Given the description of an element on the screen output the (x, y) to click on. 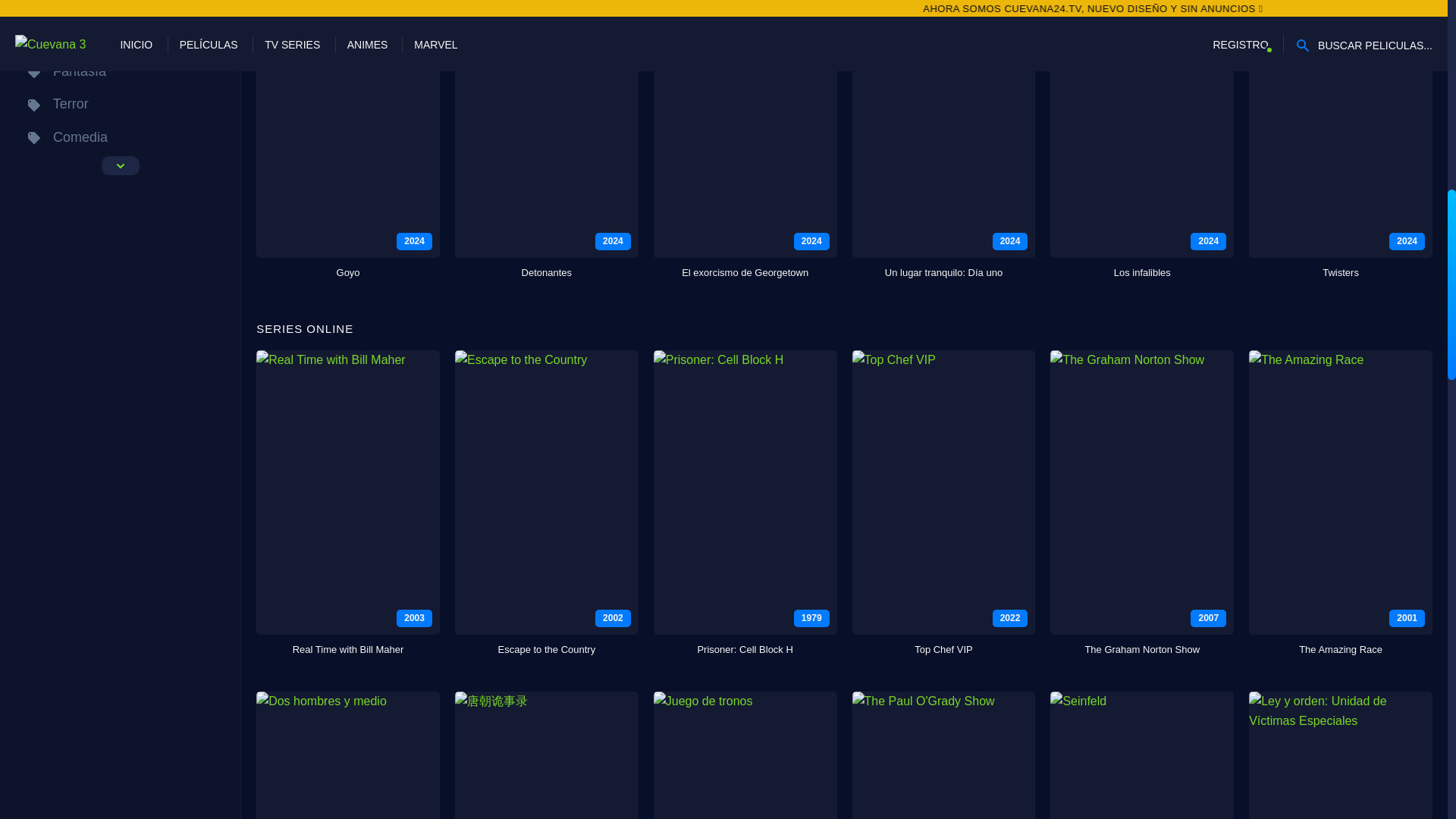
Terror (119, 103)
Romance (119, 38)
Comedia (119, 137)
